Given the description of an element on the screen output the (x, y) to click on. 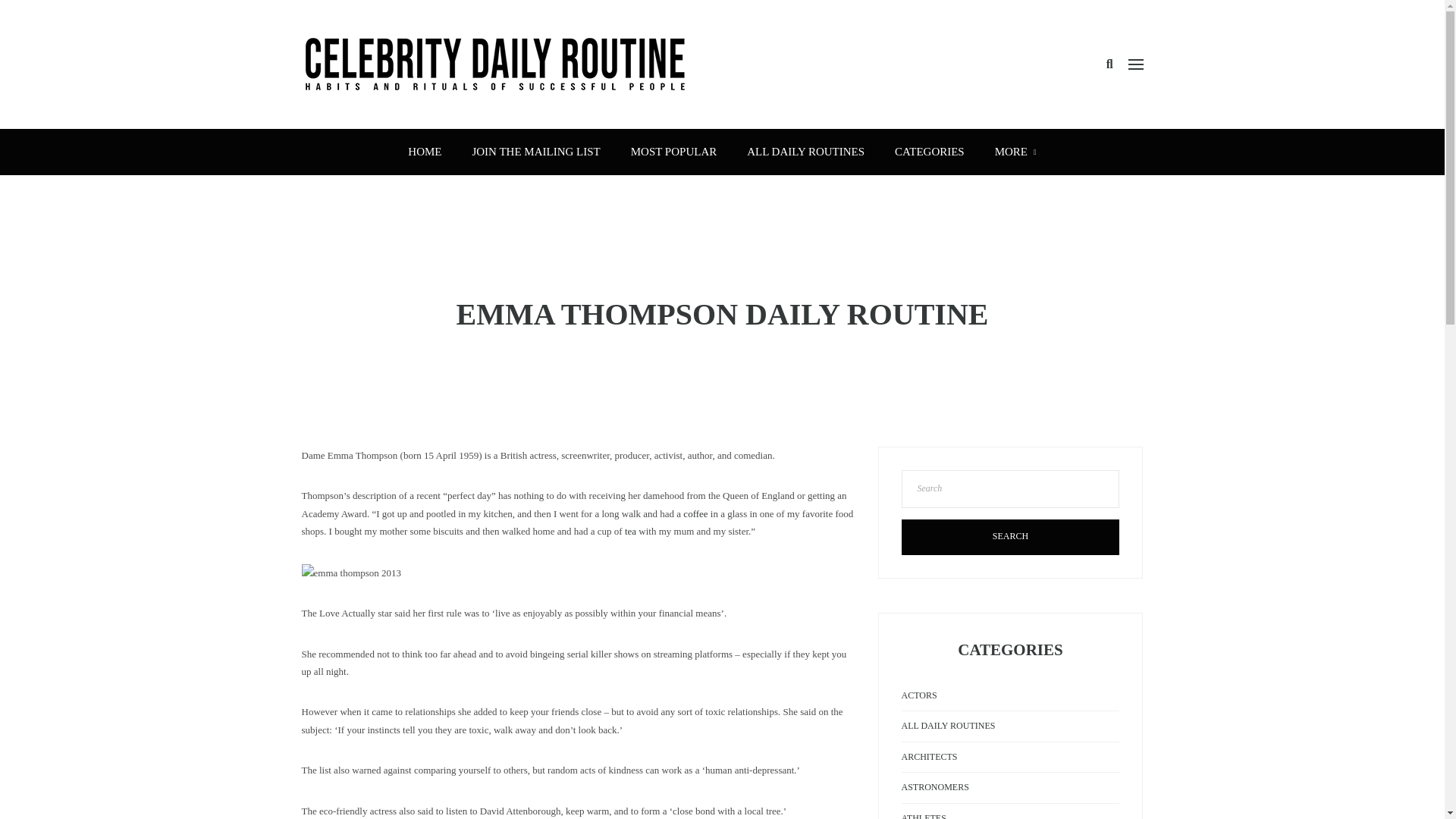
coffee (694, 513)
SEARCH (1010, 537)
MORE (1015, 151)
JOIN THE MAILING LIST (535, 151)
ACTORS (918, 695)
MOST POPULAR (673, 151)
ASTRONOMERS (934, 787)
HOME (425, 151)
tea (630, 531)
Celebrity Daily Routine (494, 62)
ARCHITECTS (928, 756)
ALL DAILY ROUTINES (947, 725)
CATEGORIES (929, 151)
ALL DAILY ROUTINES (805, 151)
